Given the description of an element on the screen output the (x, y) to click on. 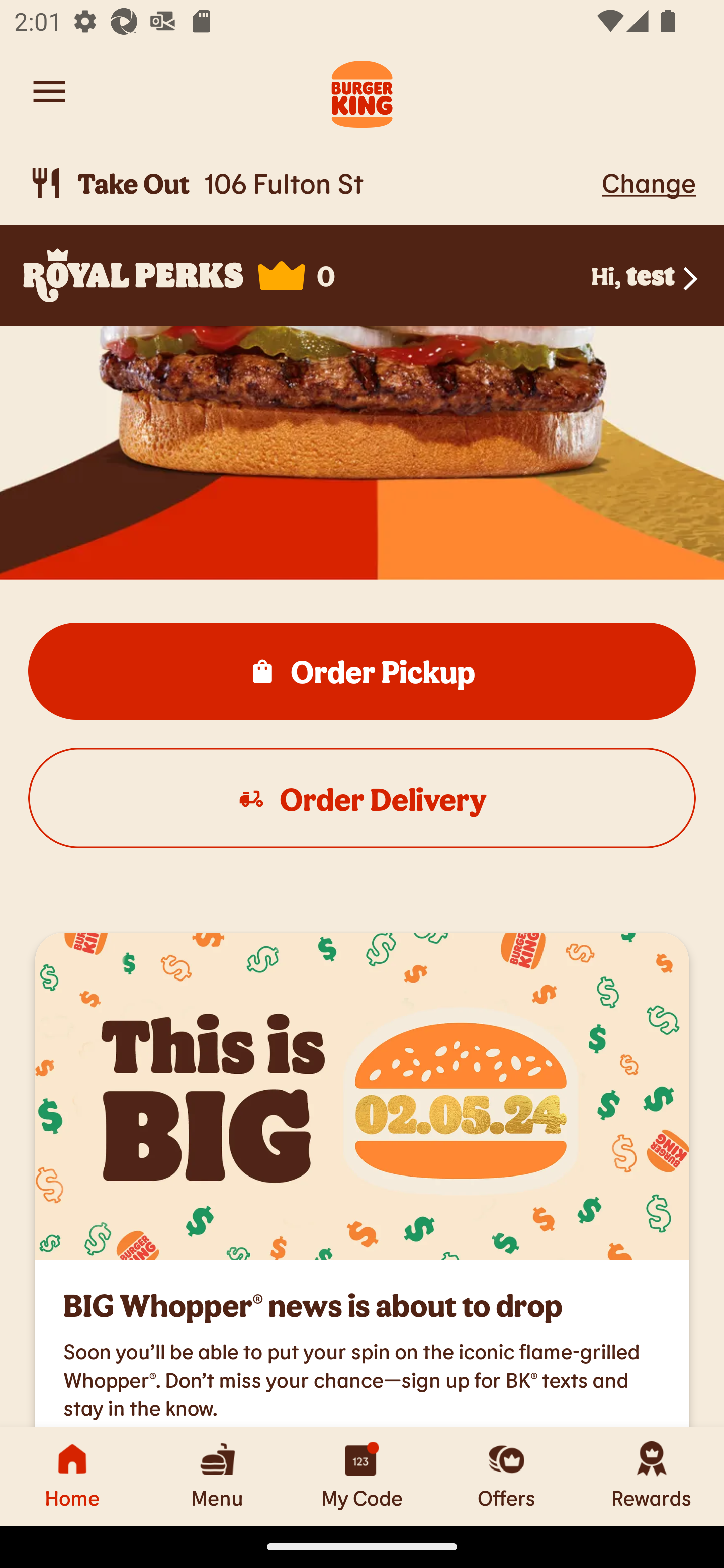
Burger King Logo. Navigate to Home (362, 91)
Navigate to account menu  (49, 91)
Take Out, 106 Fulton St  Take Out 106 Fulton St (311, 183)
Change (648, 182)
, Order Pickup  Order Pickup (361, 670)
, Order Delivery  Order Delivery (361, 797)
MDW Teaser Auth App (361, 1096)
Home (72, 1475)
Menu (216, 1475)
My Code (361, 1475)
Offers (506, 1475)
Rewards (651, 1475)
